Given the description of an element on the screen output the (x, y) to click on. 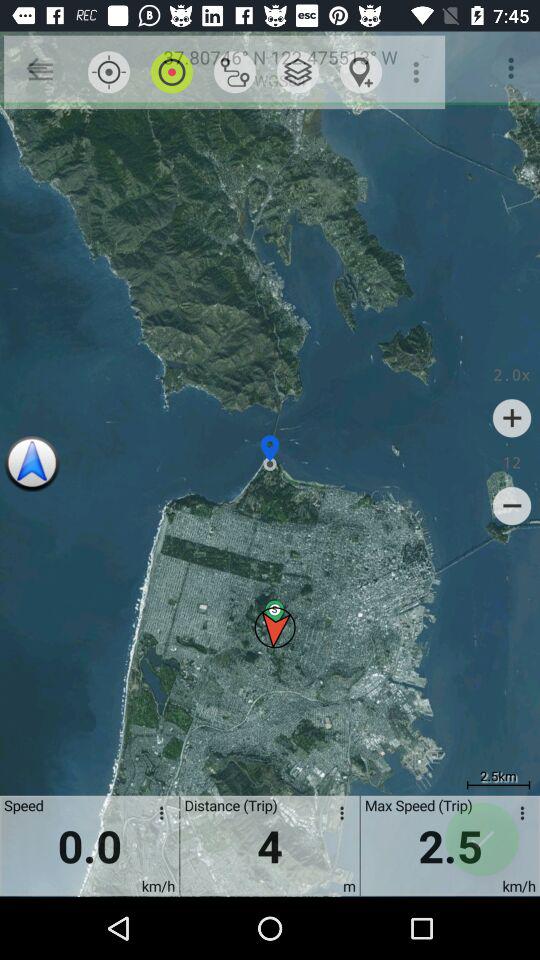
more information on distance trip (338, 816)
